Given the description of an element on the screen output the (x, y) to click on. 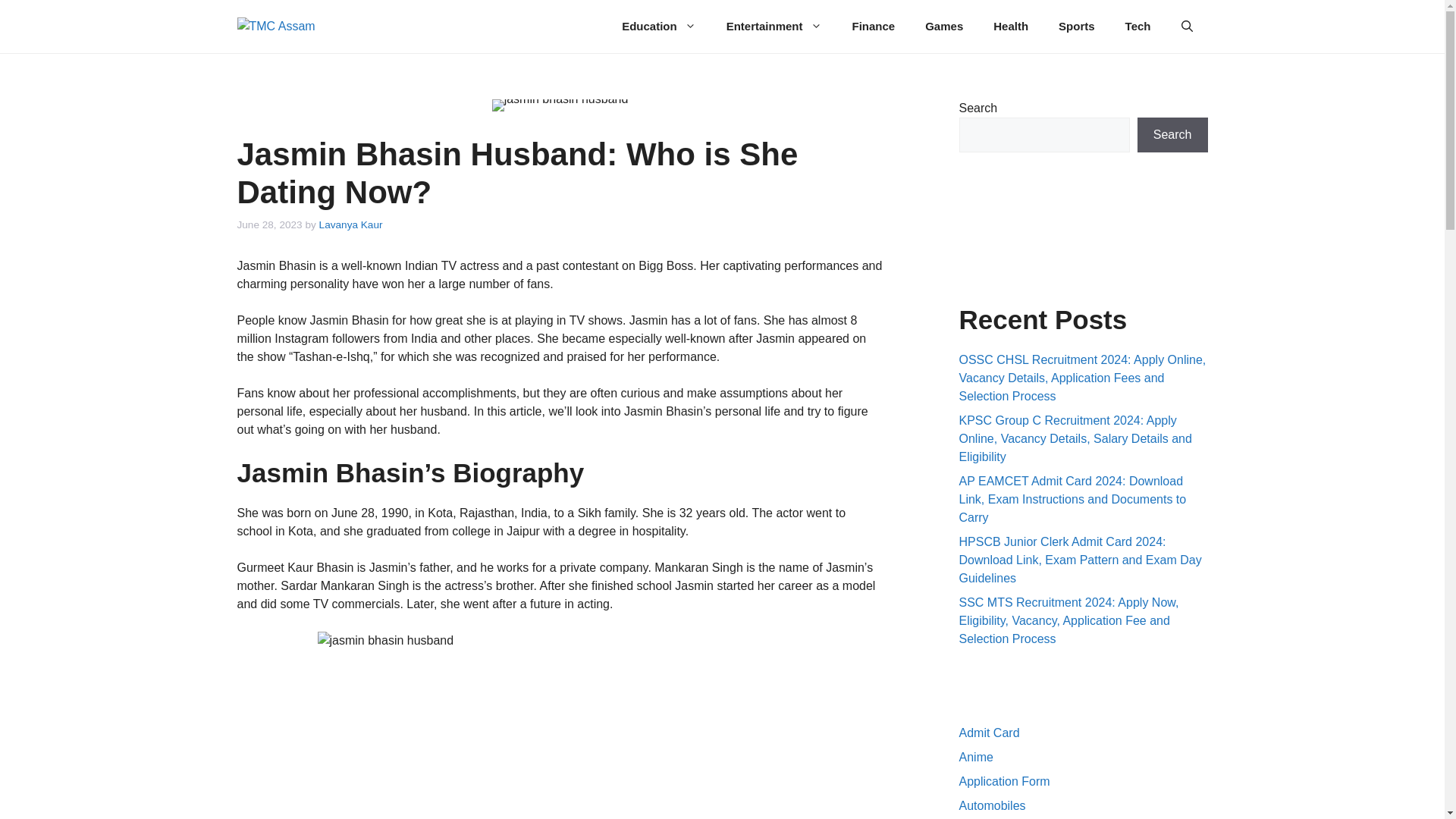
Admit Card (988, 732)
Finance (874, 26)
Games (944, 26)
Health (1010, 26)
Search (1172, 134)
Sports (1076, 26)
Tech (1137, 26)
View all posts by Lavanya Kaur (350, 224)
Lavanya Kaur (350, 224)
Entertainment (774, 26)
Education (659, 26)
